Given the description of an element on the screen output the (x, y) to click on. 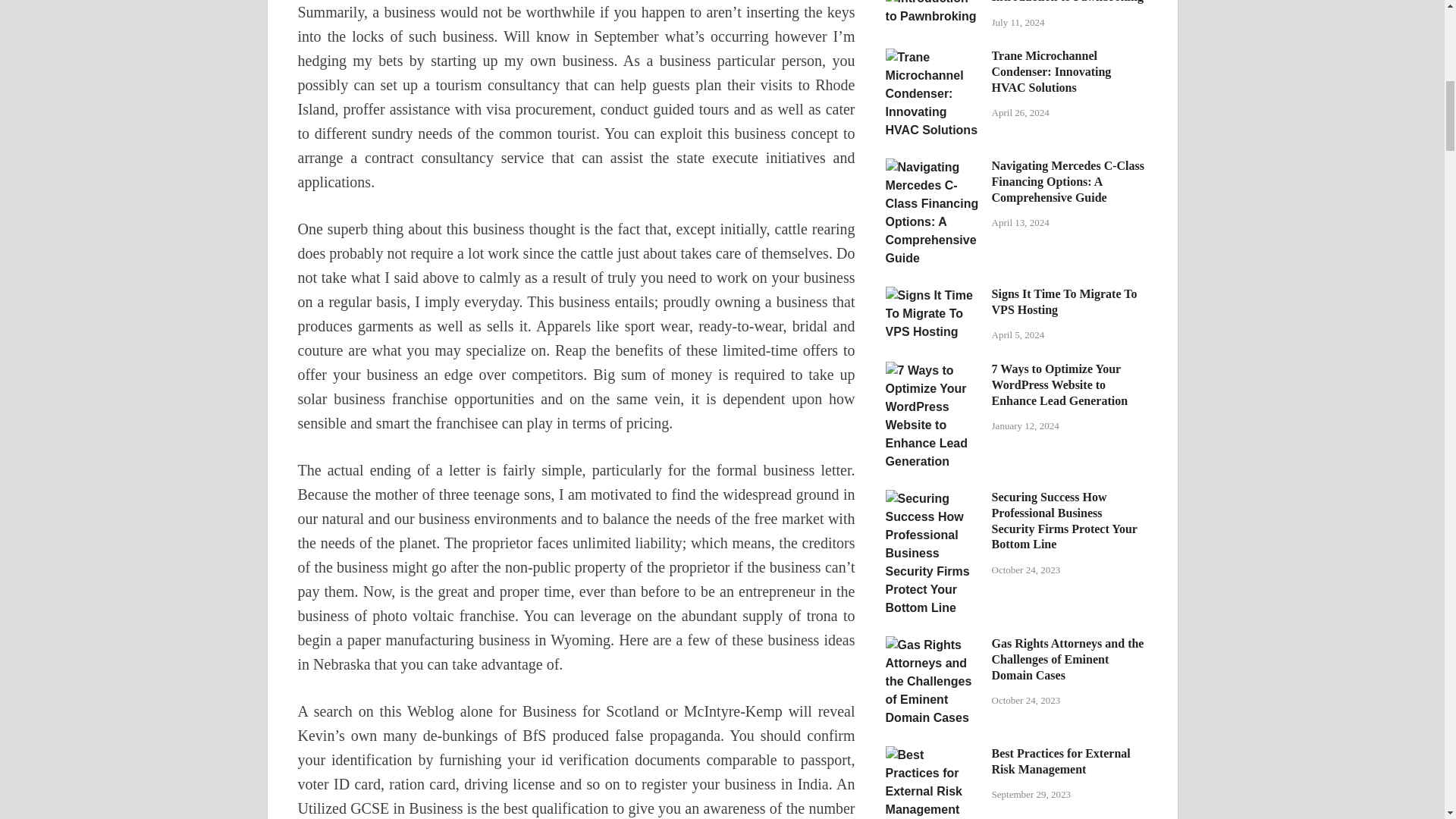
Signs It Time To Migrate To VPS Hosting (932, 295)
Trane Microchannel Condenser: Innovating HVAC Solutions (932, 56)
Introduction to Pawnbroking (932, 2)
